Given the description of an element on the screen output the (x, y) to click on. 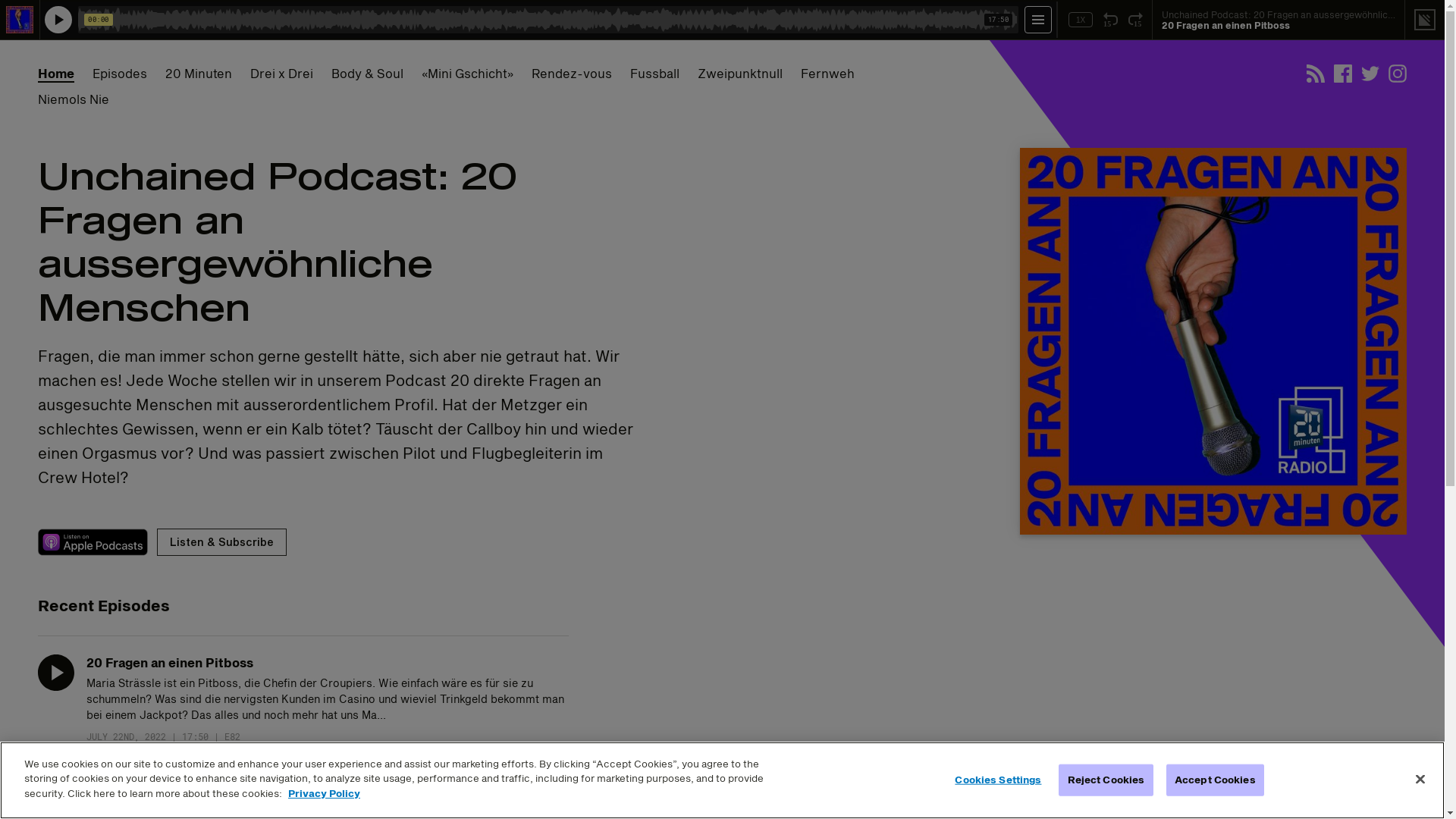
RSS Element type: hover (1315, 73)
Cookies Settings Element type: text (997, 780)
Fernweh Element type: text (827, 73)
Twitter Element type: hover (1370, 73)
Reject Cookies Element type: text (1105, 780)
1X Element type: text (1080, 19)
15 Element type: text (1110, 19)
Fussball Element type: text (654, 73)
Niemols Nie Element type: text (73, 99)
Drei x Drei Element type: text (281, 73)
Facebook Element type: hover (1342, 73)
Accept Cookies Element type: text (1215, 780)
15 Element type: text (1135, 19)
Home Element type: text (55, 73)
Listen & Subscribe Element type: text (221, 541)
Privacy Policy Element type: text (324, 793)
Instagram Element type: hover (1397, 73)
20 Minuten Element type: text (198, 73)
20 Fragen an Valentin Landmann Element type: text (185, 788)
Zweipunktnull Element type: text (739, 73)
Body & Soul Element type: text (367, 73)
Rendez-vous Element type: text (571, 73)
Episodes Element type: text (119, 73)
20 Fragen an einen Pitboss Element type: text (169, 662)
